Given the description of an element on the screen output the (x, y) to click on. 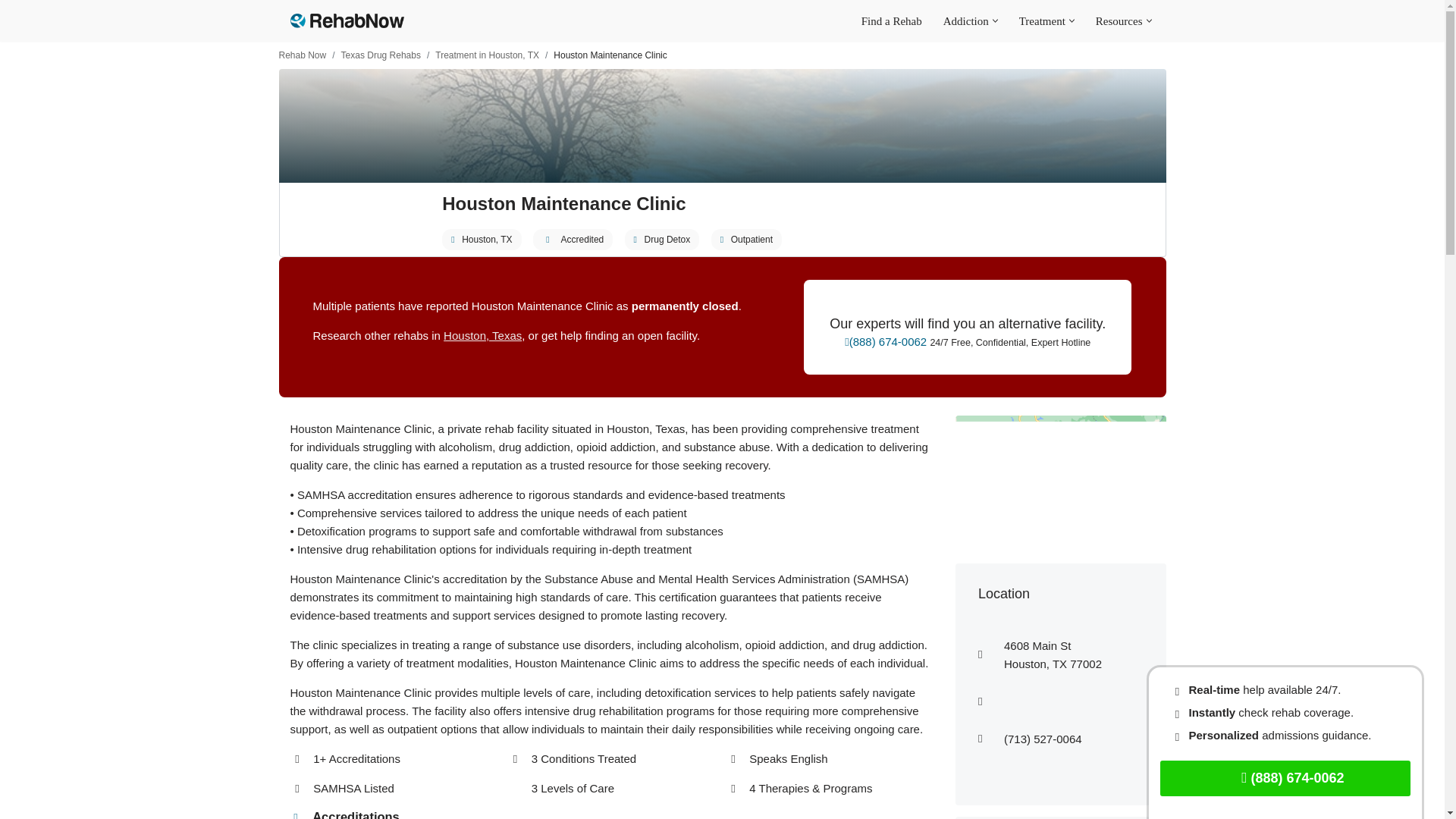
Addiction (965, 20)
Find a Rehab (891, 20)
Skip to content (11, 31)
Treatment (1042, 20)
Resources (1119, 20)
